Given the description of an element on the screen output the (x, y) to click on. 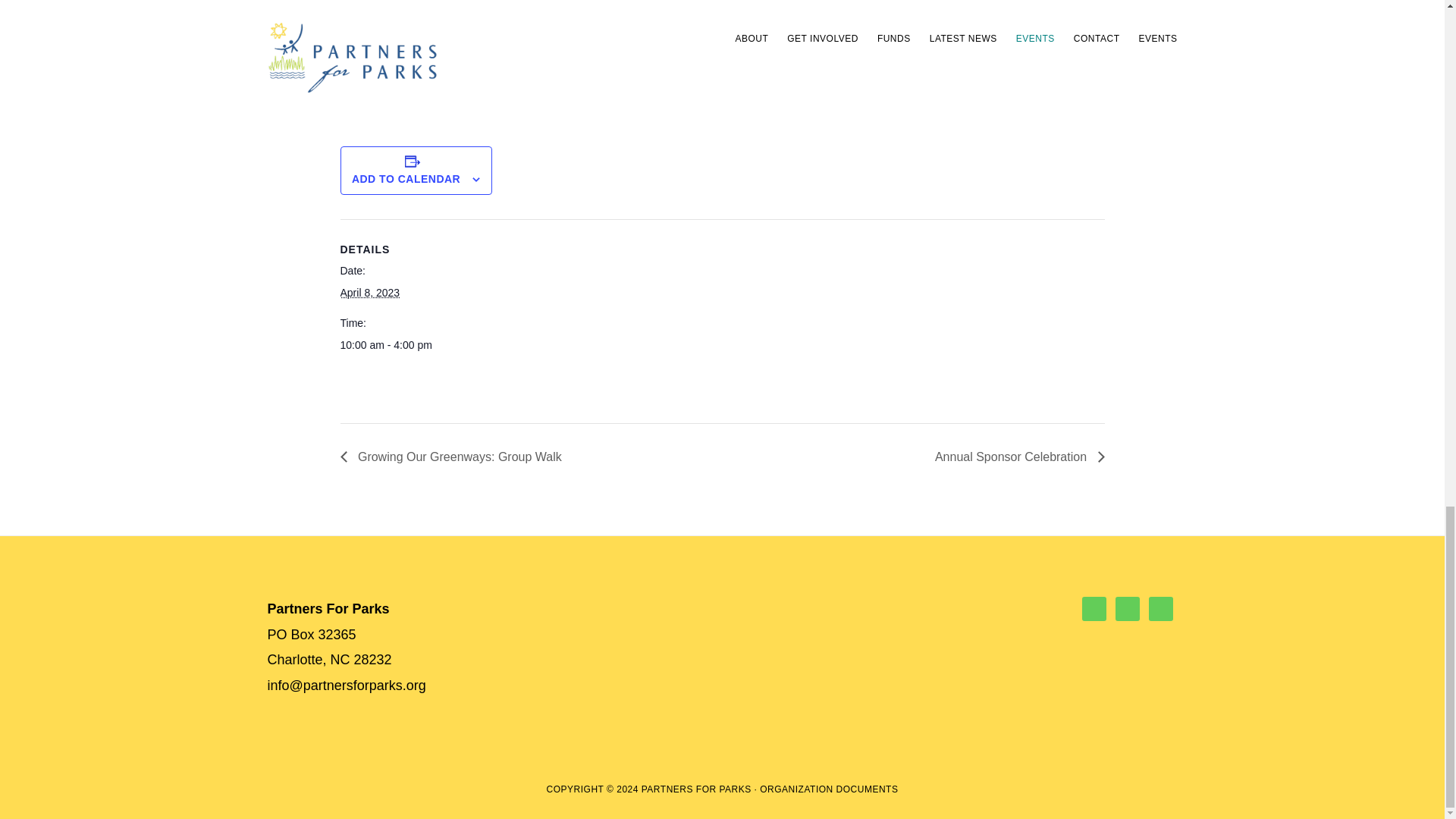
2023-04-08 (403, 344)
2023-04-08 (368, 292)
ORGANIZATION DOCUMENTS (829, 788)
Annual Sponsor Celebration (1015, 456)
ADD TO CALENDAR (406, 178)
Growing Our Greenways: Group Walk (454, 456)
